Given the description of an element on the screen output the (x, y) to click on. 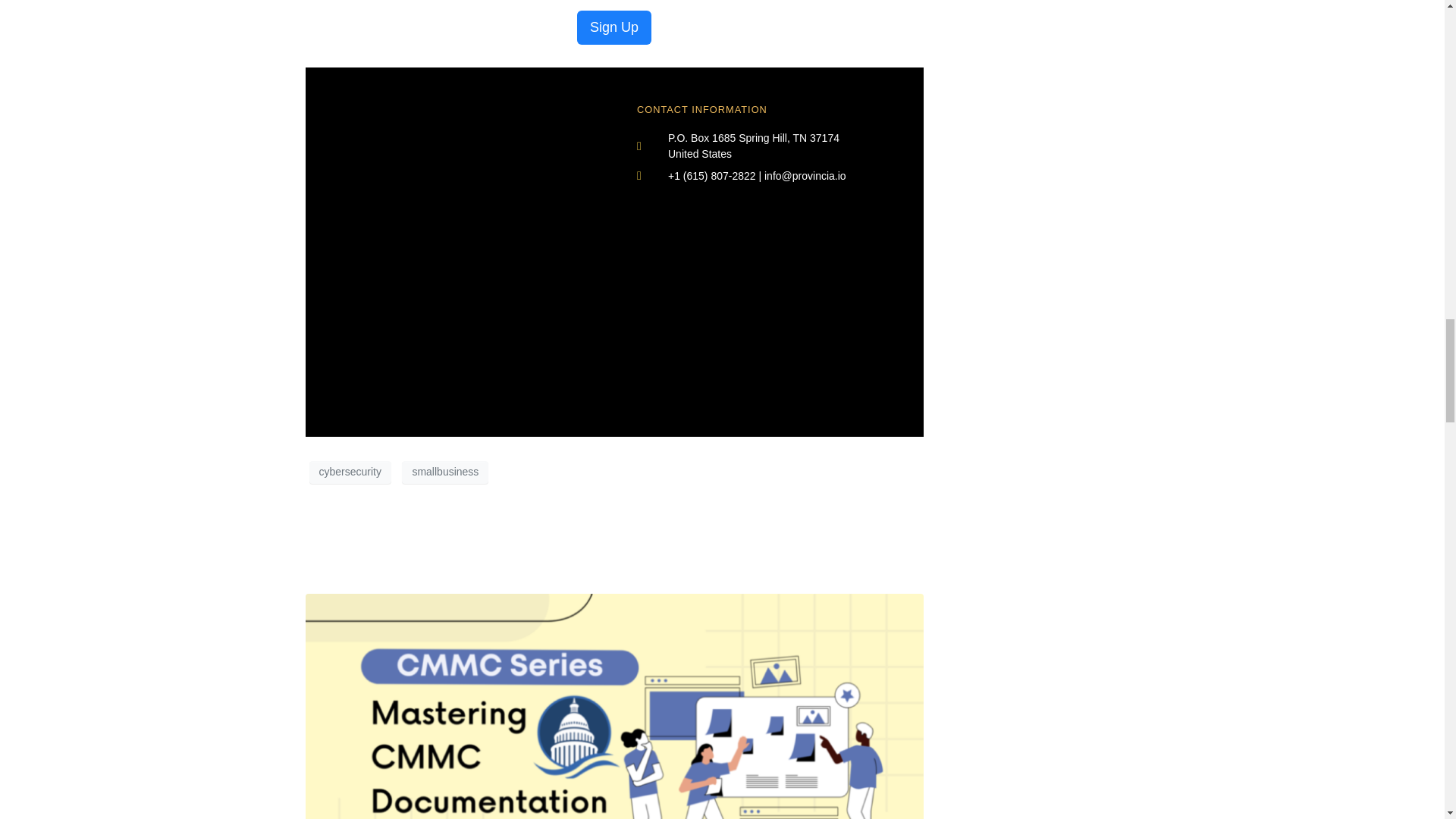
Mastering CMMC Documentation: Your Comprehensive Guide (603, 552)
Sign Up (613, 27)
Mastering CMMC Documentation: Your Comprehensive Guide (613, 766)
Mastering CMMC Documentation: Your Comprehensive Guide (603, 552)
cybersecurity (349, 472)
smallbusiness (444, 472)
